Given the description of an element on the screen output the (x, y) to click on. 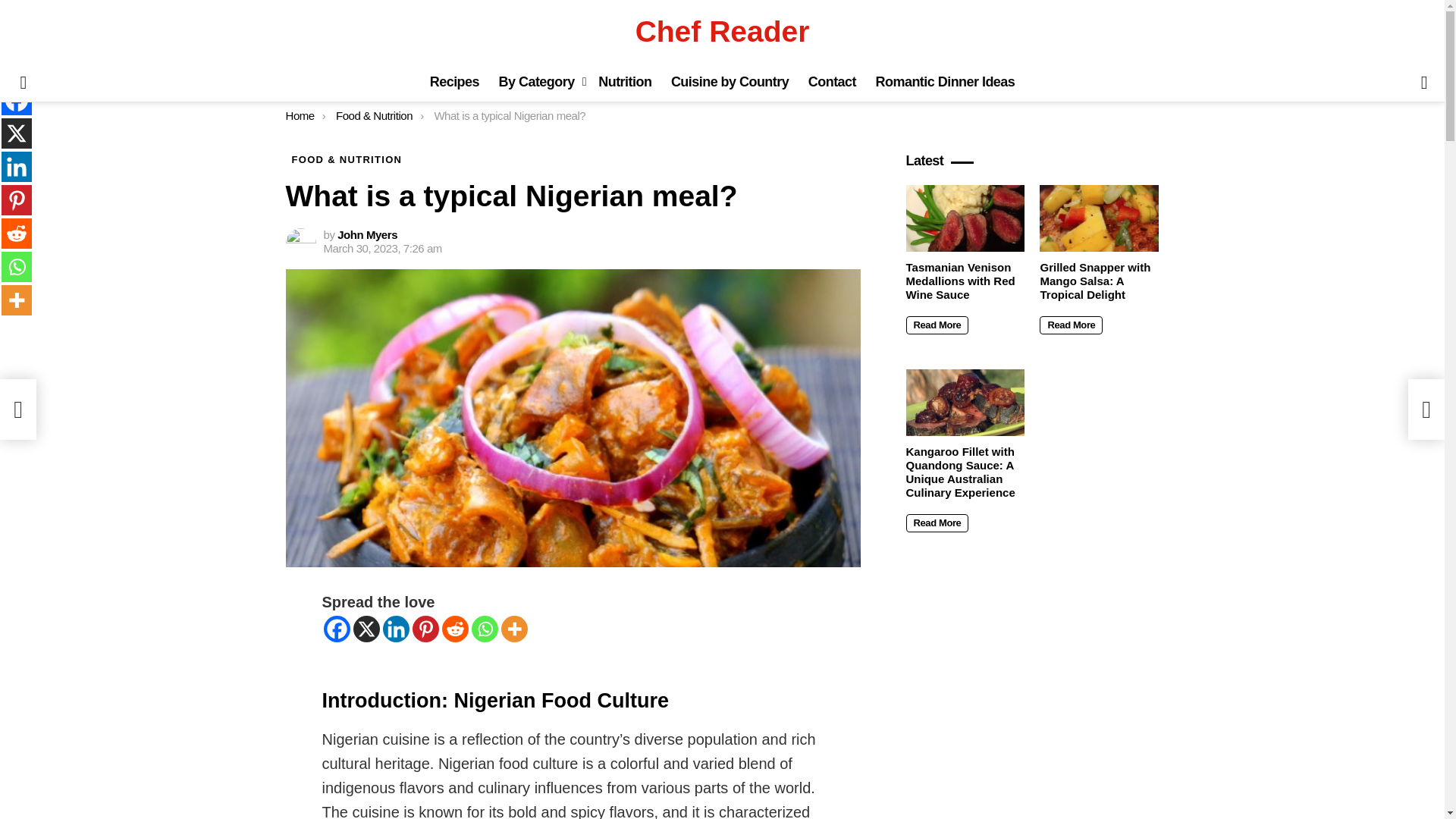
More (513, 628)
Whatsapp (484, 628)
Posts by John Myers (367, 234)
Cuisine by Country (729, 81)
Facebook (16, 100)
By Category (539, 81)
Home (299, 115)
Contact (831, 81)
Menu (22, 82)
Reddit (454, 628)
Chef Reader (721, 31)
Reddit (16, 233)
Pinterest (16, 200)
Linkedin (395, 628)
Nutrition (625, 81)
